Given the description of an element on the screen output the (x, y) to click on. 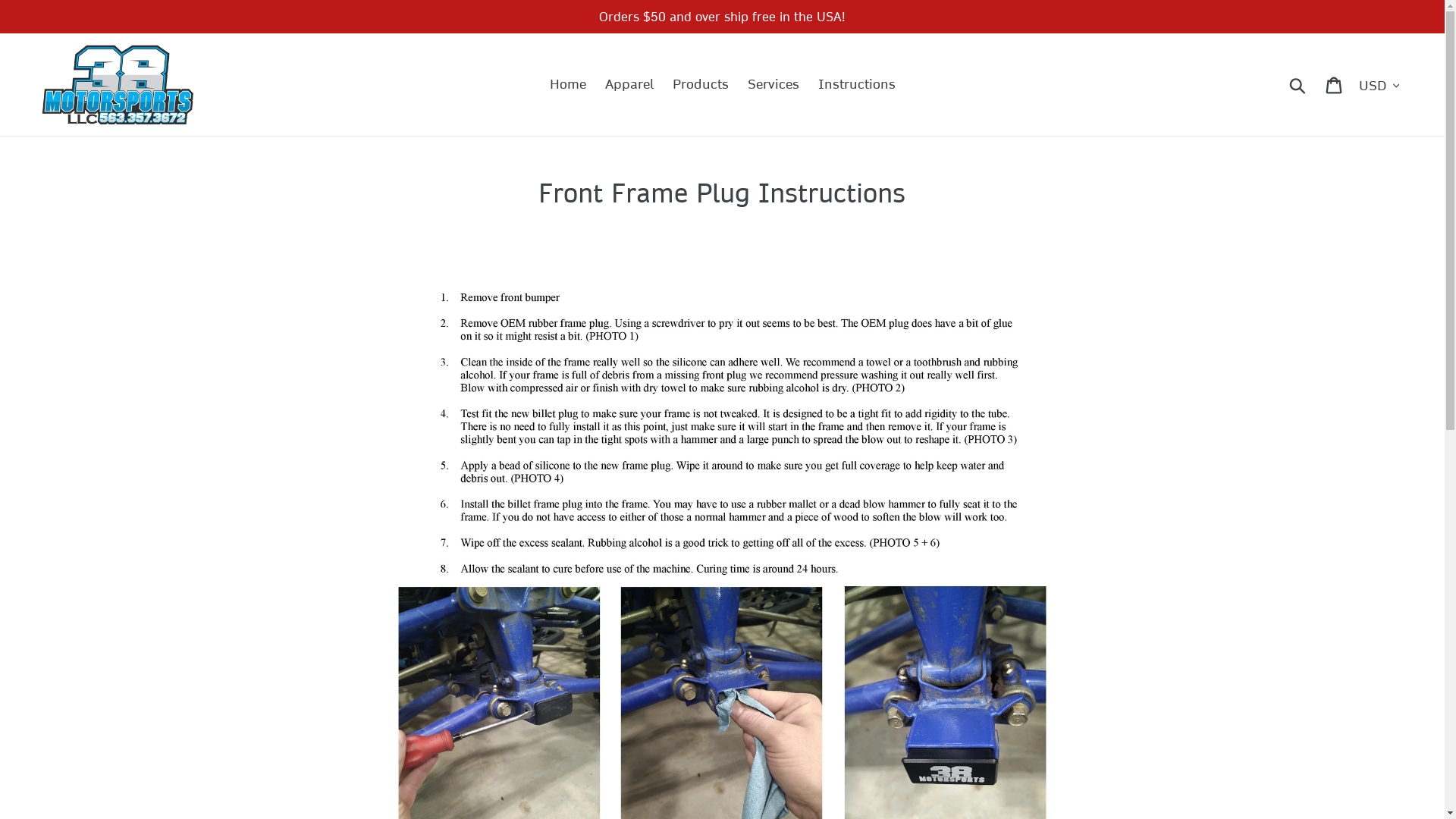
Submit Element type: text (1298, 84)
Home Element type: text (567, 84)
Products Element type: text (699, 84)
Services Element type: text (773, 84)
Cart Element type: text (1334, 84)
Instructions Element type: text (855, 84)
Apparel Element type: text (629, 84)
